Given the description of an element on the screen output the (x, y) to click on. 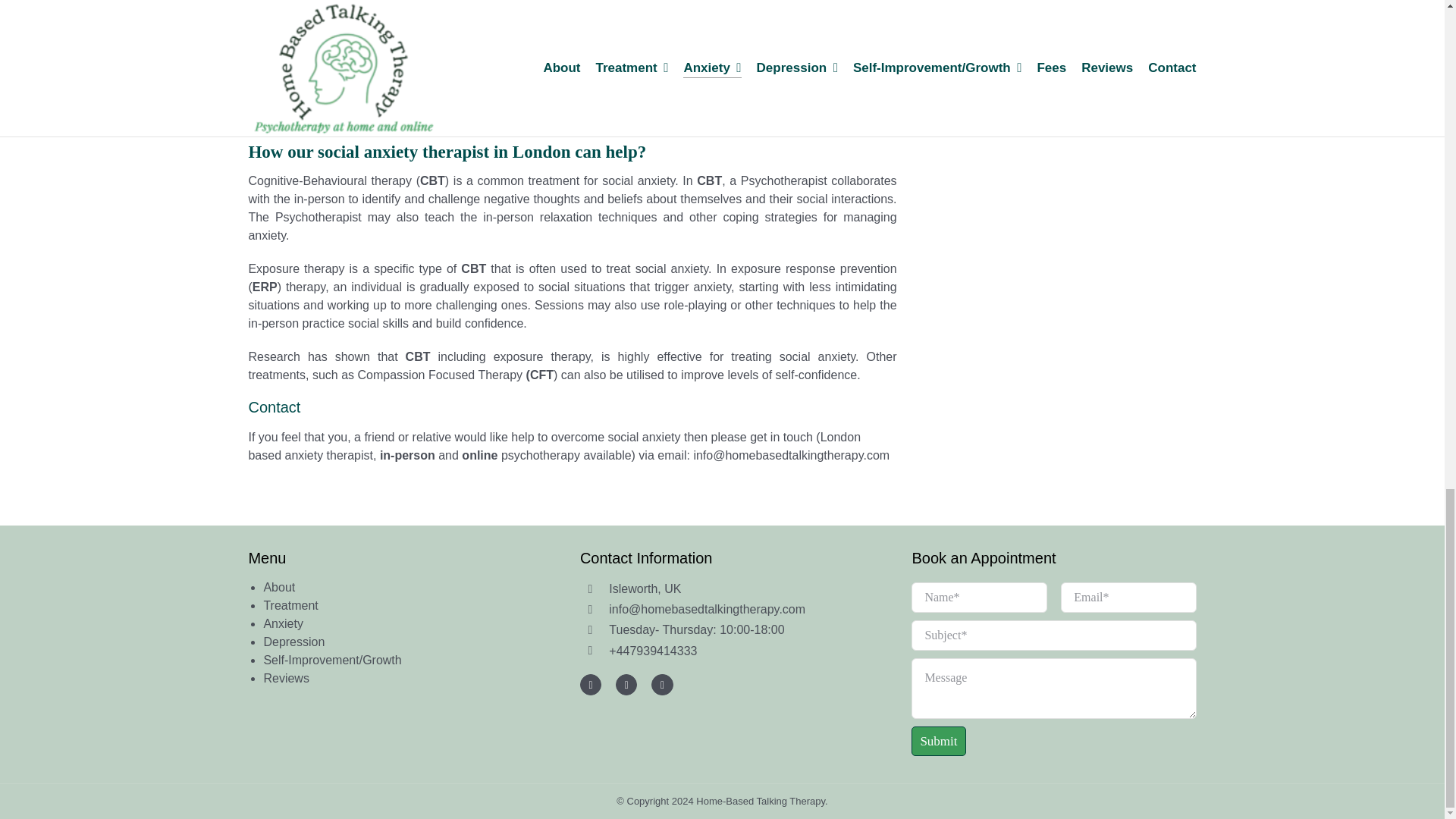
Submit (1053, 669)
